Given the description of an element on the screen output the (x, y) to click on. 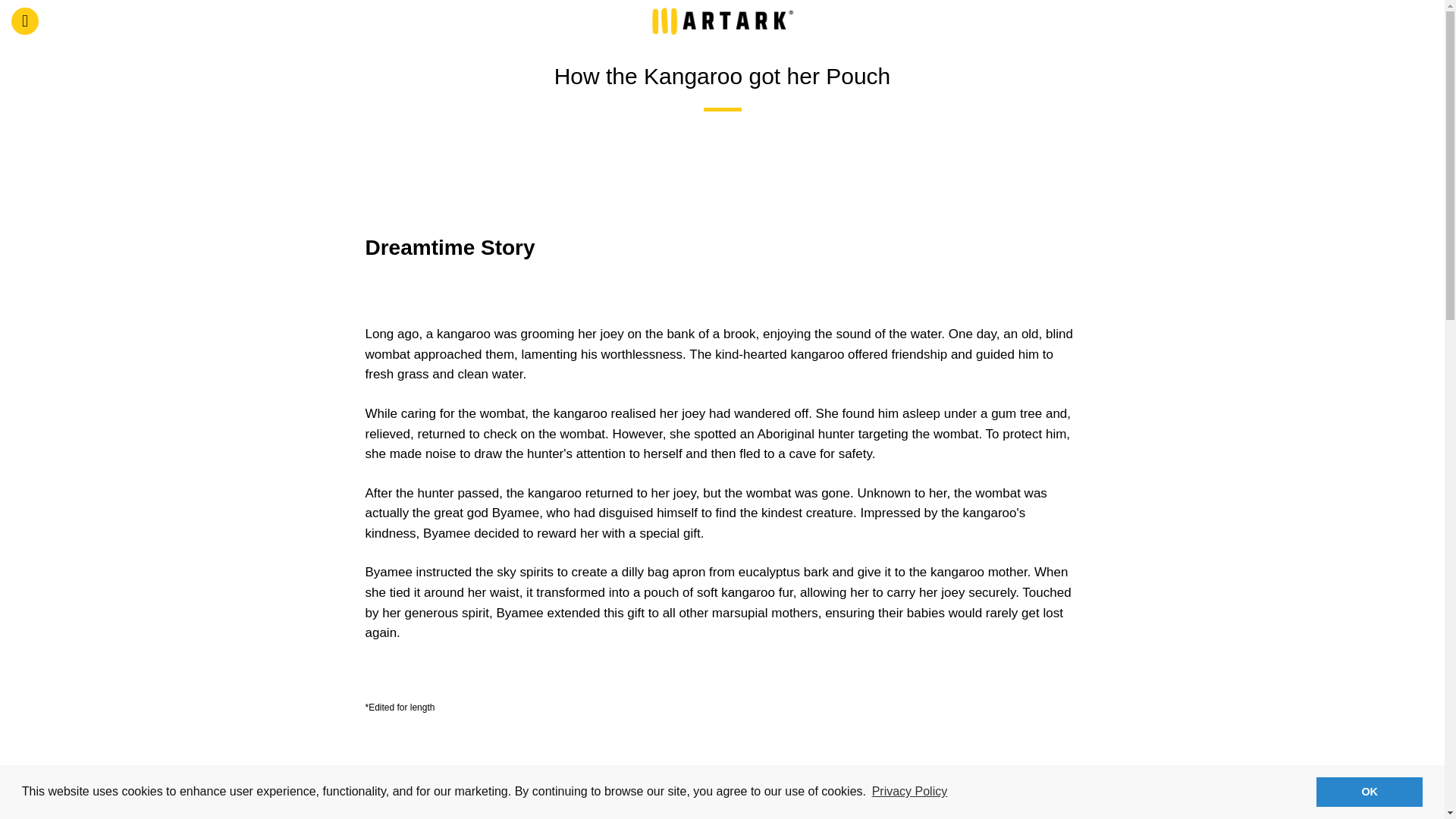
OK (1369, 791)
Privacy Policy (909, 791)
